Given the description of an element on the screen output the (x, y) to click on. 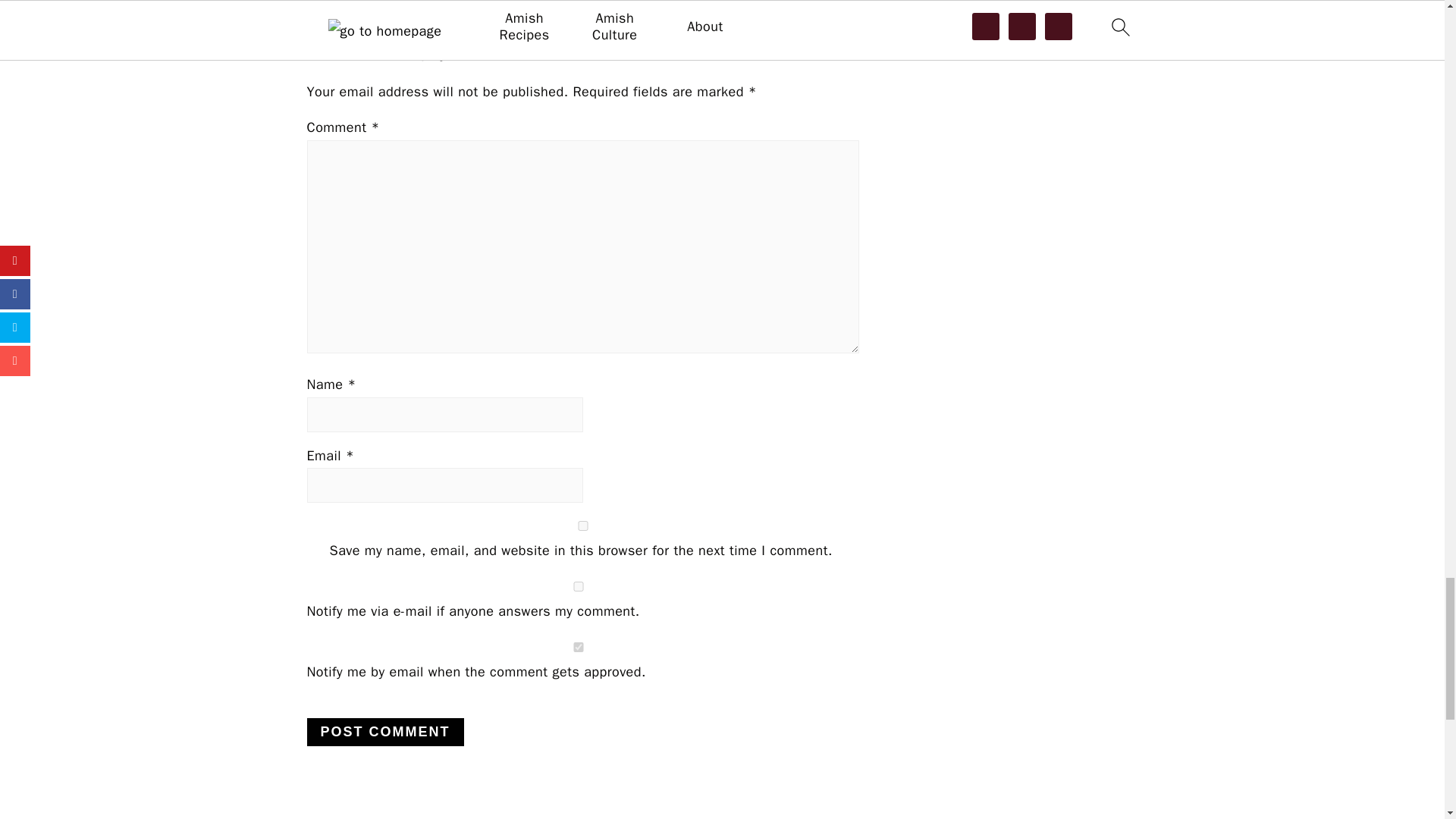
1 (576, 646)
Post Comment (384, 732)
on (576, 586)
yes (582, 525)
